Given the description of an element on the screen output the (x, y) to click on. 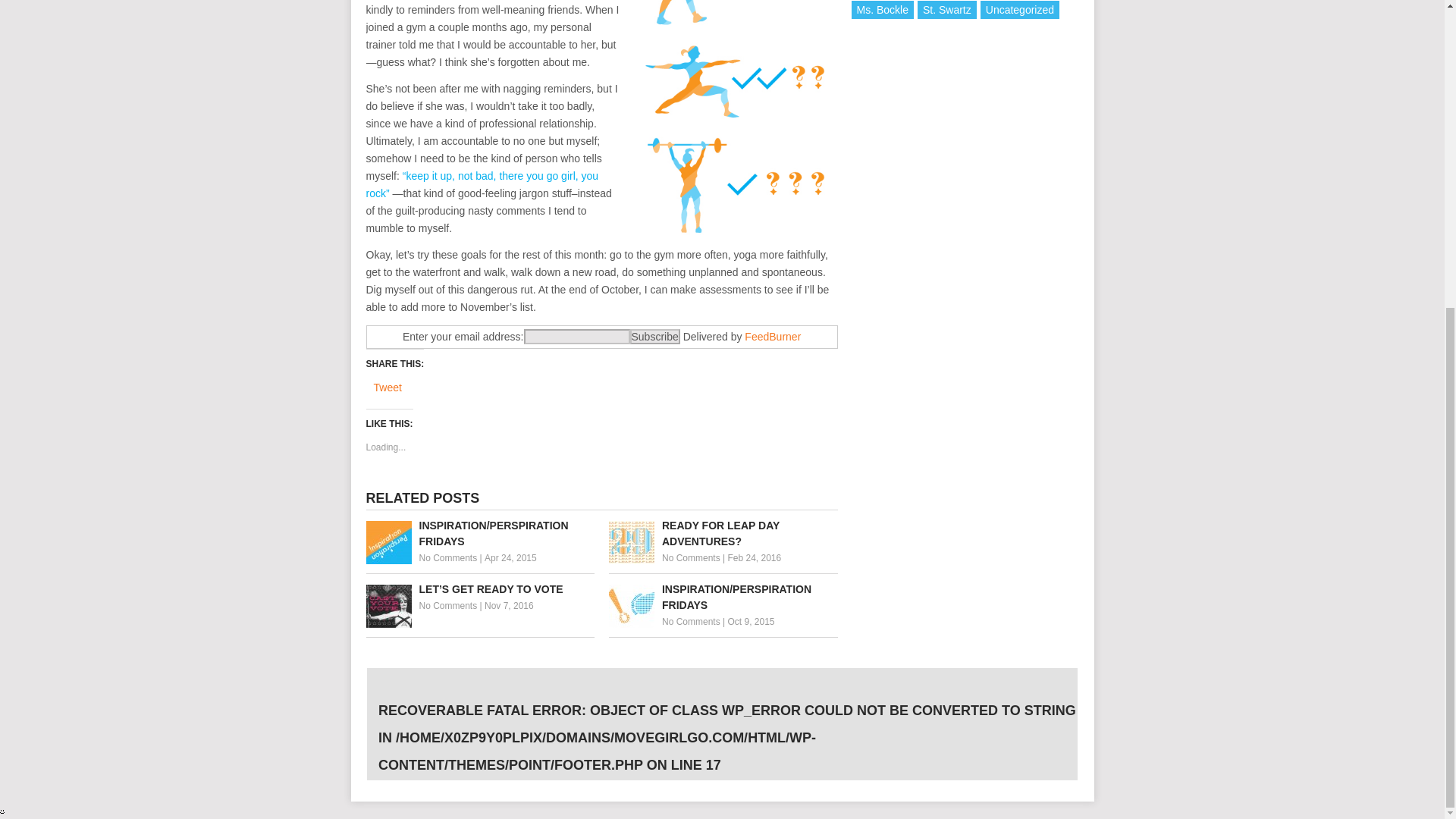
READY FOR LEAP DAY ADVENTURES? (723, 533)
No Comments (448, 605)
No Comments (691, 557)
No Comments (691, 621)
Ready for Leap Day Adventures? (723, 533)
St. Swartz (946, 9)
No Comments (448, 557)
Ms. Bockle (881, 9)
Tweet (386, 387)
Subscribe (653, 336)
FeedBurner (772, 336)
Subscribe (653, 336)
